Given the description of an element on the screen output the (x, y) to click on. 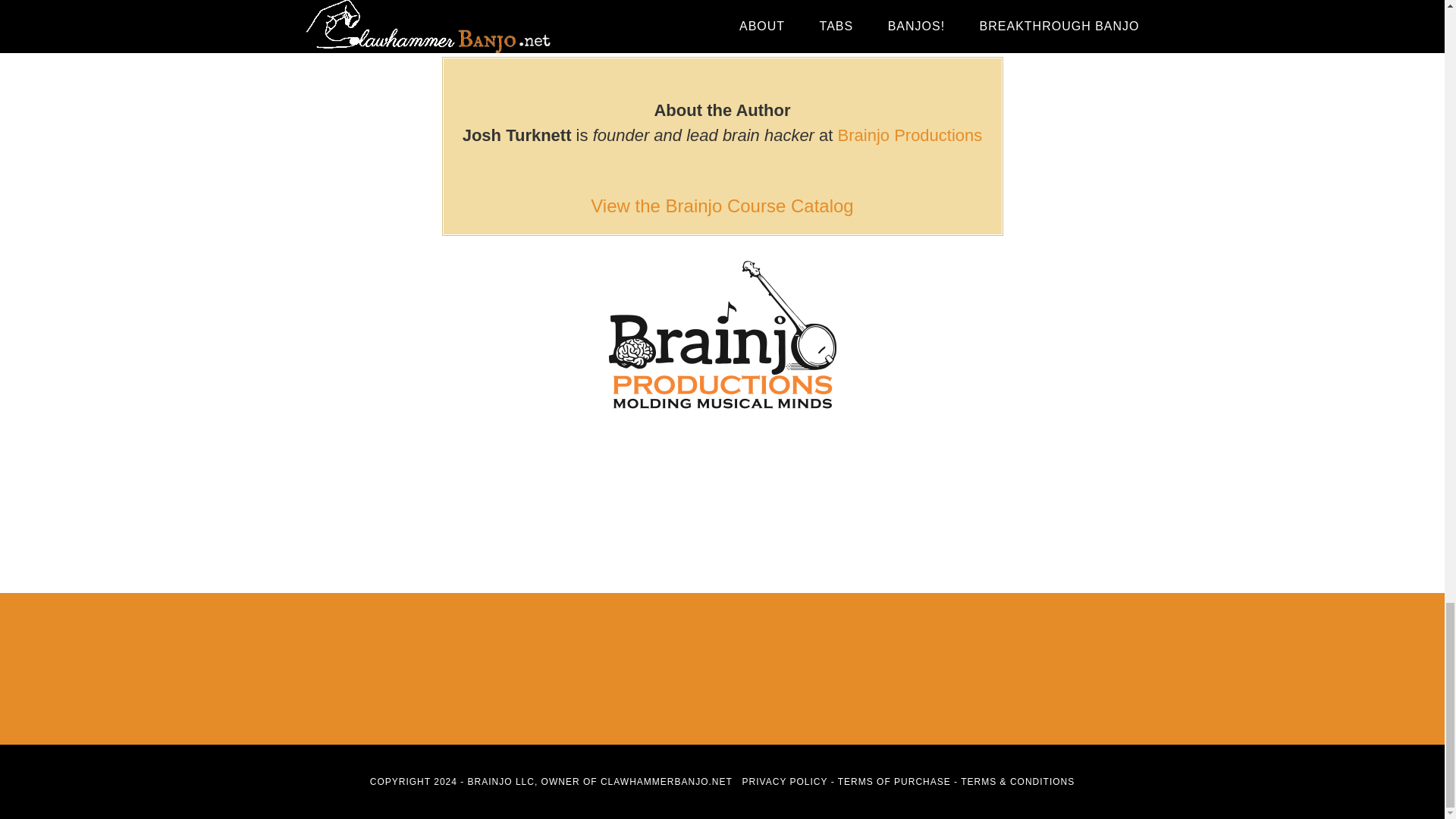
PRIVACY POLICY - (790, 781)
Brainjo Productions (910, 135)
Learn More About Breakthrough Banjo (722, 4)
View the Brainjo Course Catalog (722, 205)
TERMS OF PURCHASE - (899, 781)
